Given the description of an element on the screen output the (x, y) to click on. 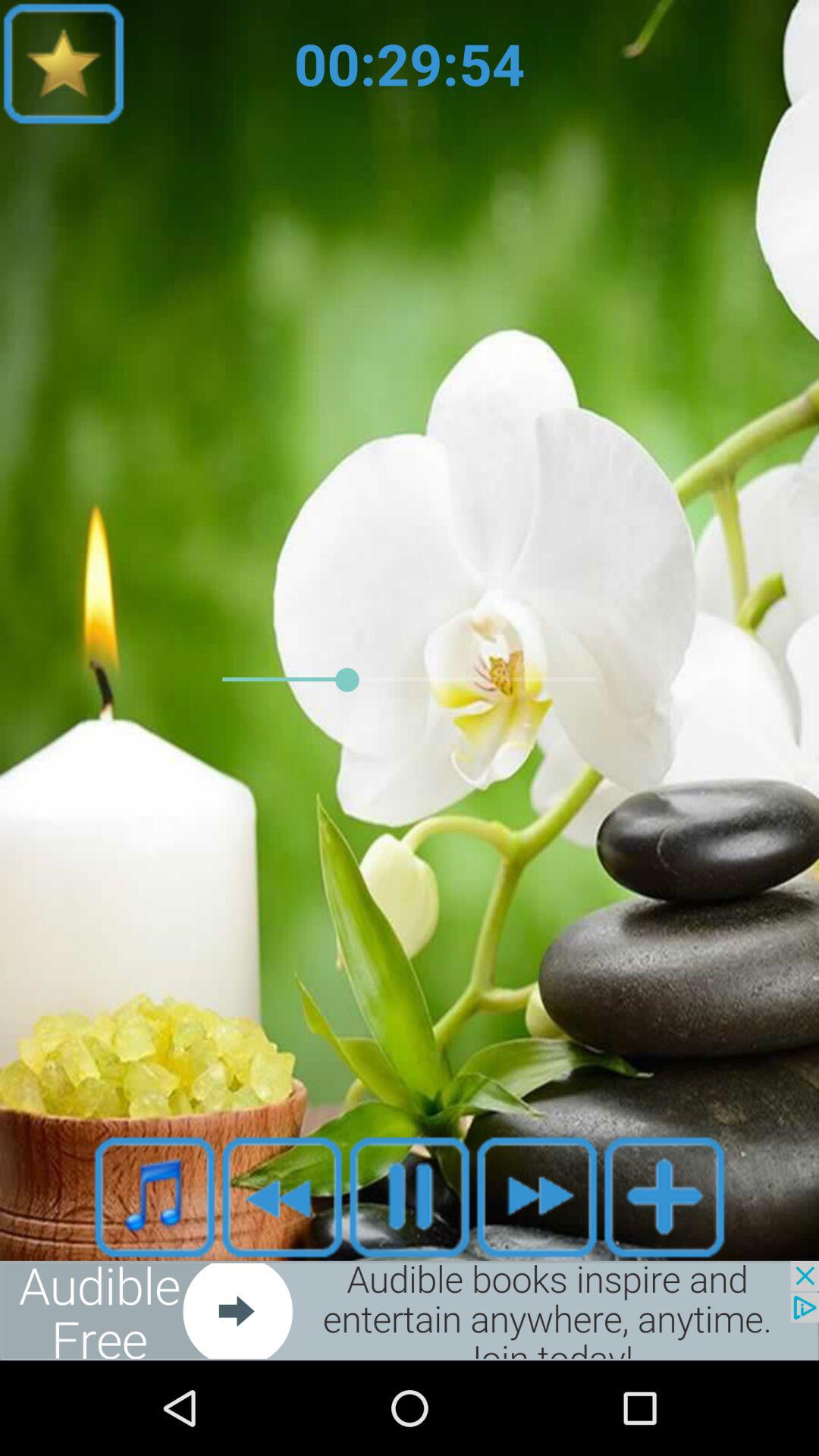
advertisement (409, 1310)
